Given the description of an element on the screen output the (x, y) to click on. 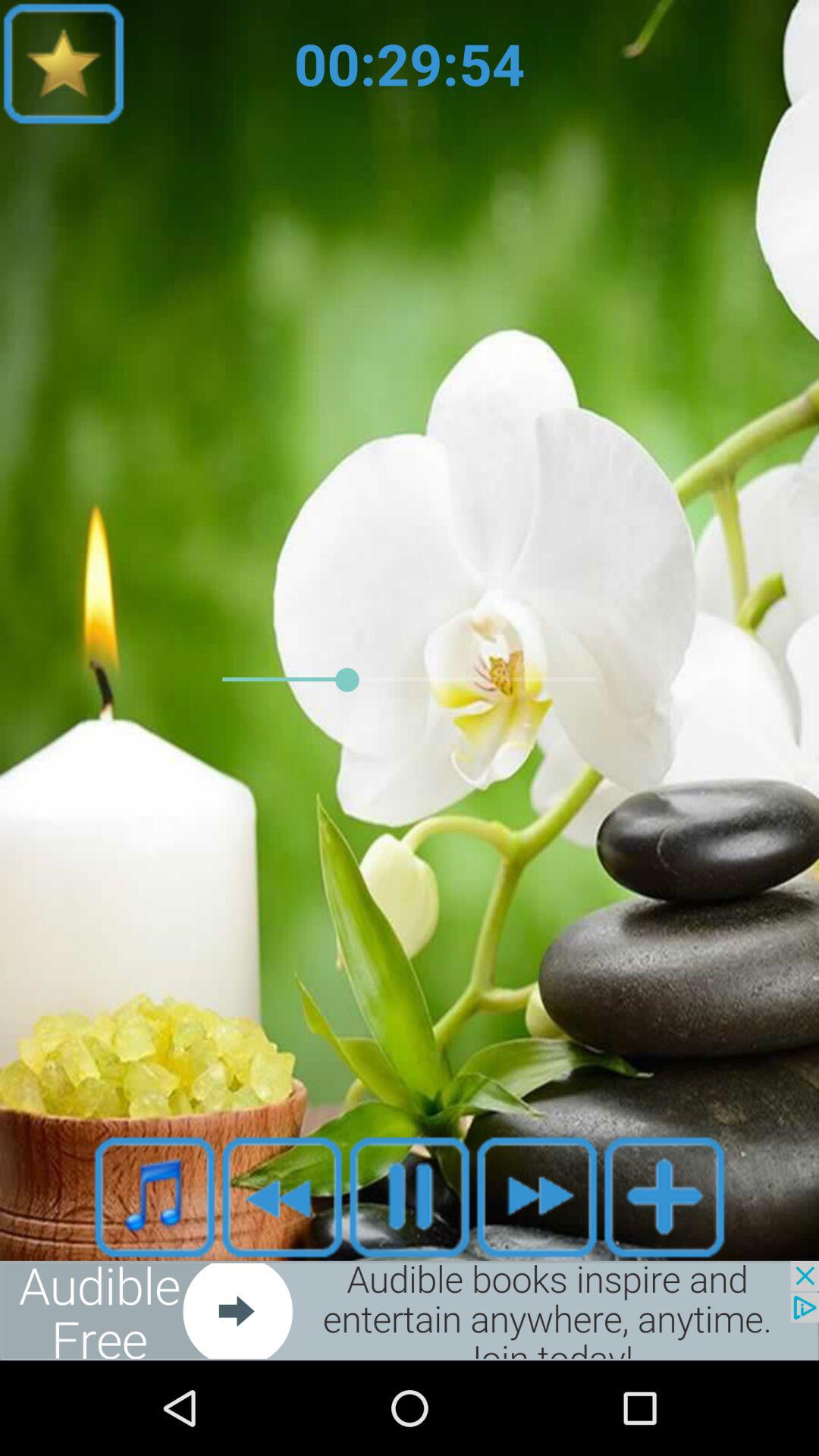
advertisement (409, 1310)
